Given the description of an element on the screen output the (x, y) to click on. 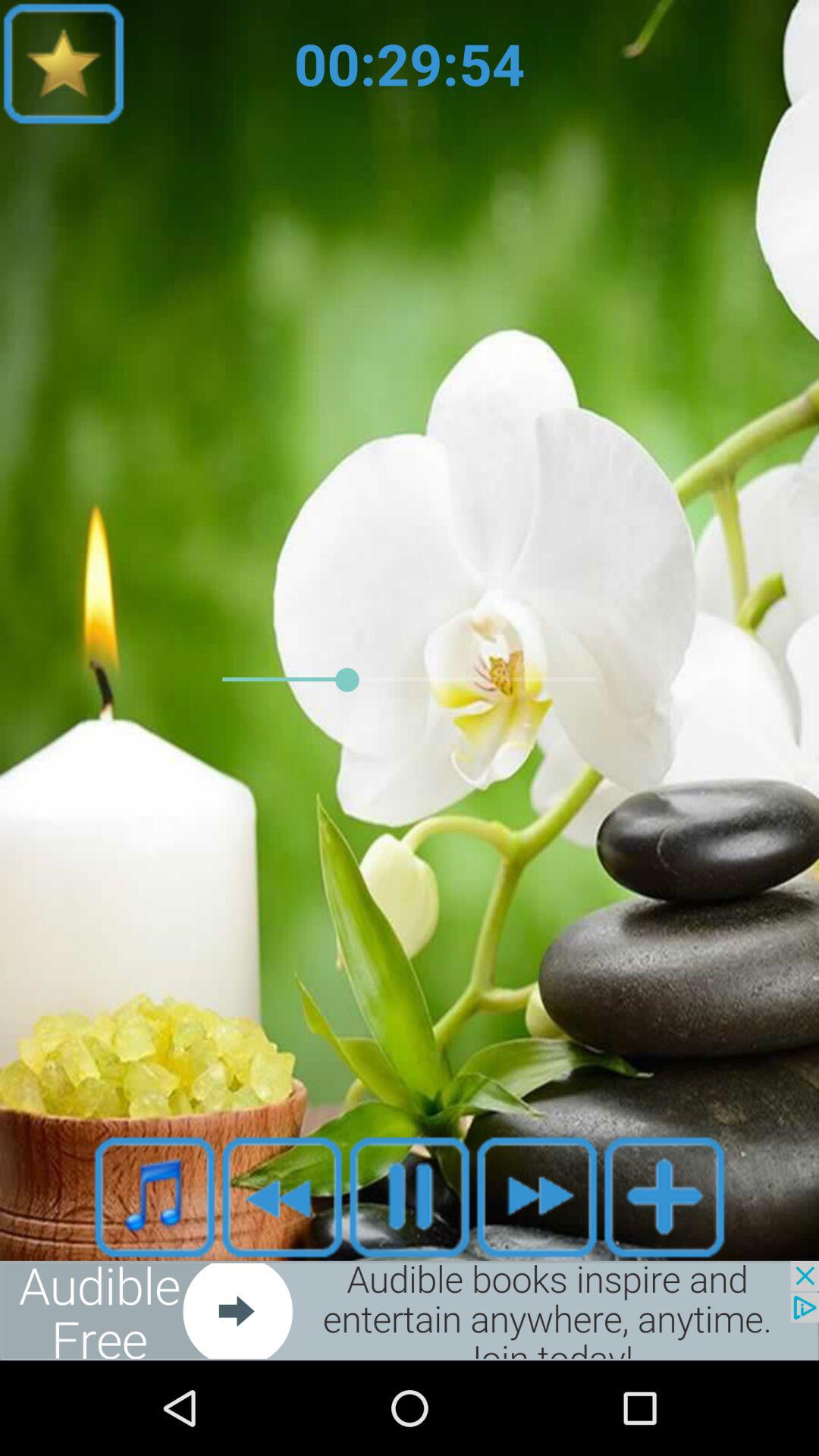
advertisement (409, 1310)
